Given the description of an element on the screen output the (x, y) to click on. 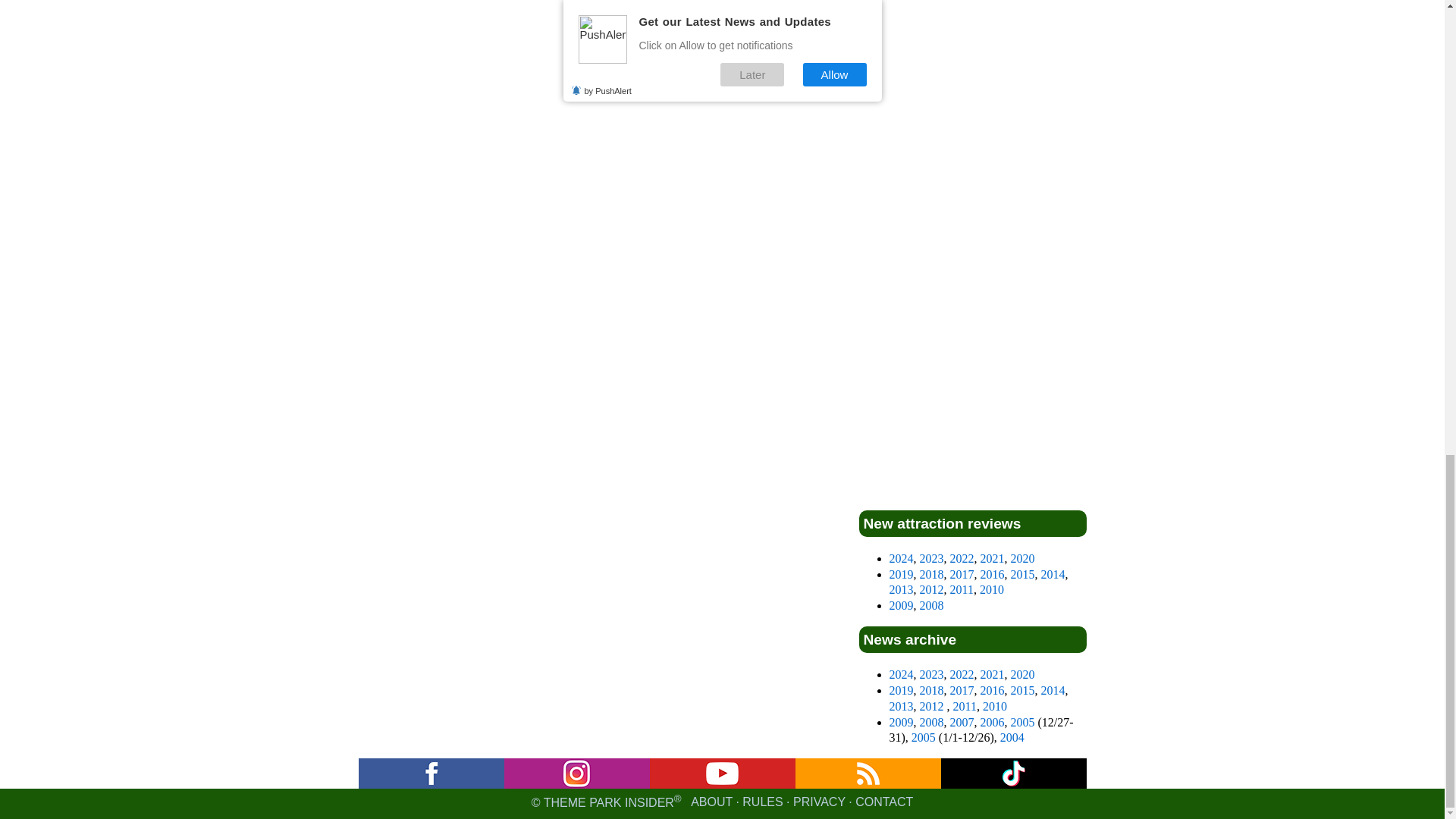
YouTube (721, 773)
2023 (930, 558)
RSS (867, 773)
2020 (1021, 558)
2019 (900, 574)
Advertisement (972, 270)
Newsletter (576, 773)
2024 (900, 558)
Facebook (430, 773)
Twitter (1012, 773)
2022 (961, 558)
2021 (991, 558)
